Given the description of an element on the screen output the (x, y) to click on. 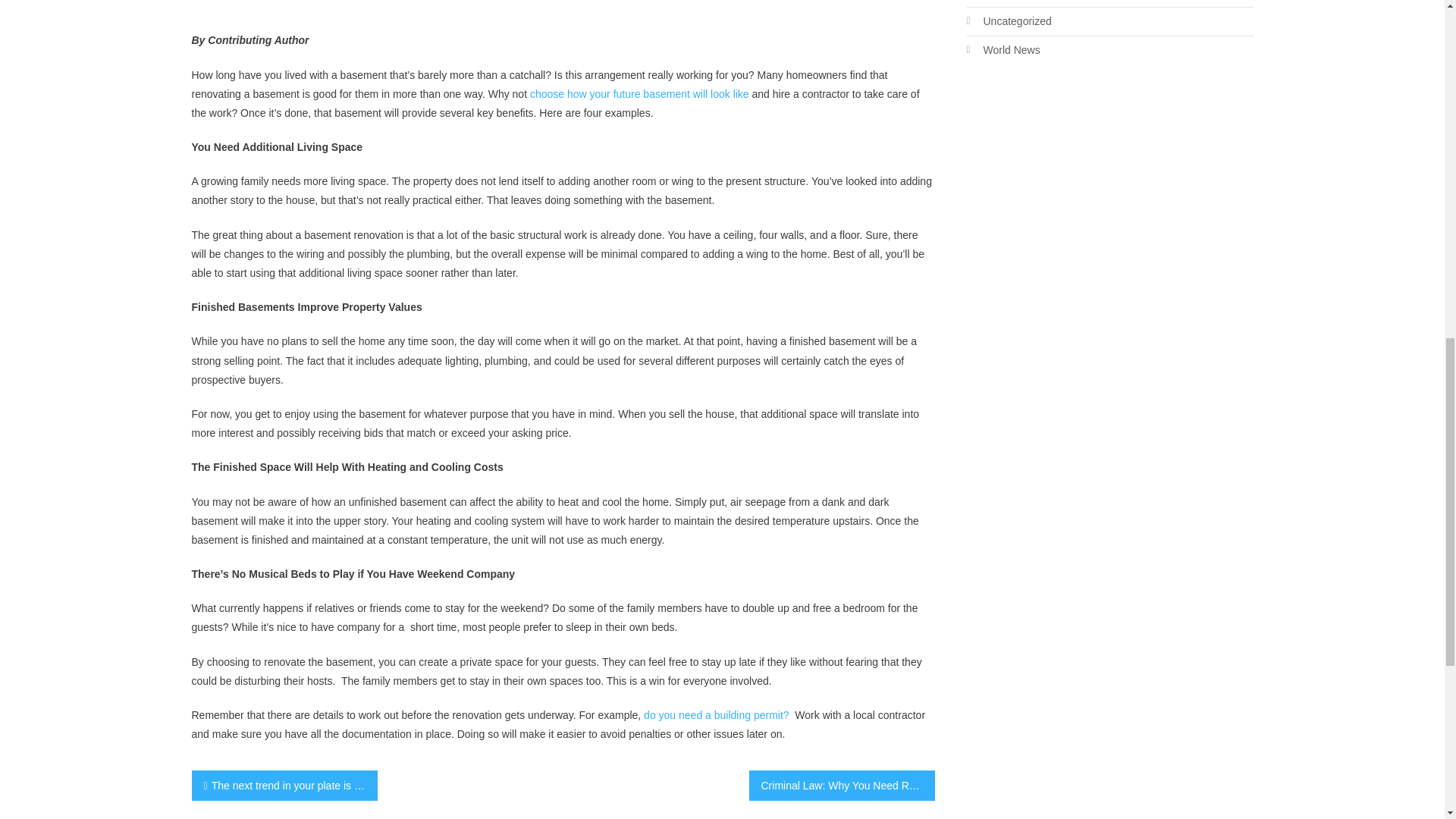
The next trend in your plate is blue food (283, 785)
do you need a building permit? (716, 715)
choose how your future basement will look like (639, 93)
Criminal Law: Why You Need Representation (841, 785)
